Given the description of an element on the screen output the (x, y) to click on. 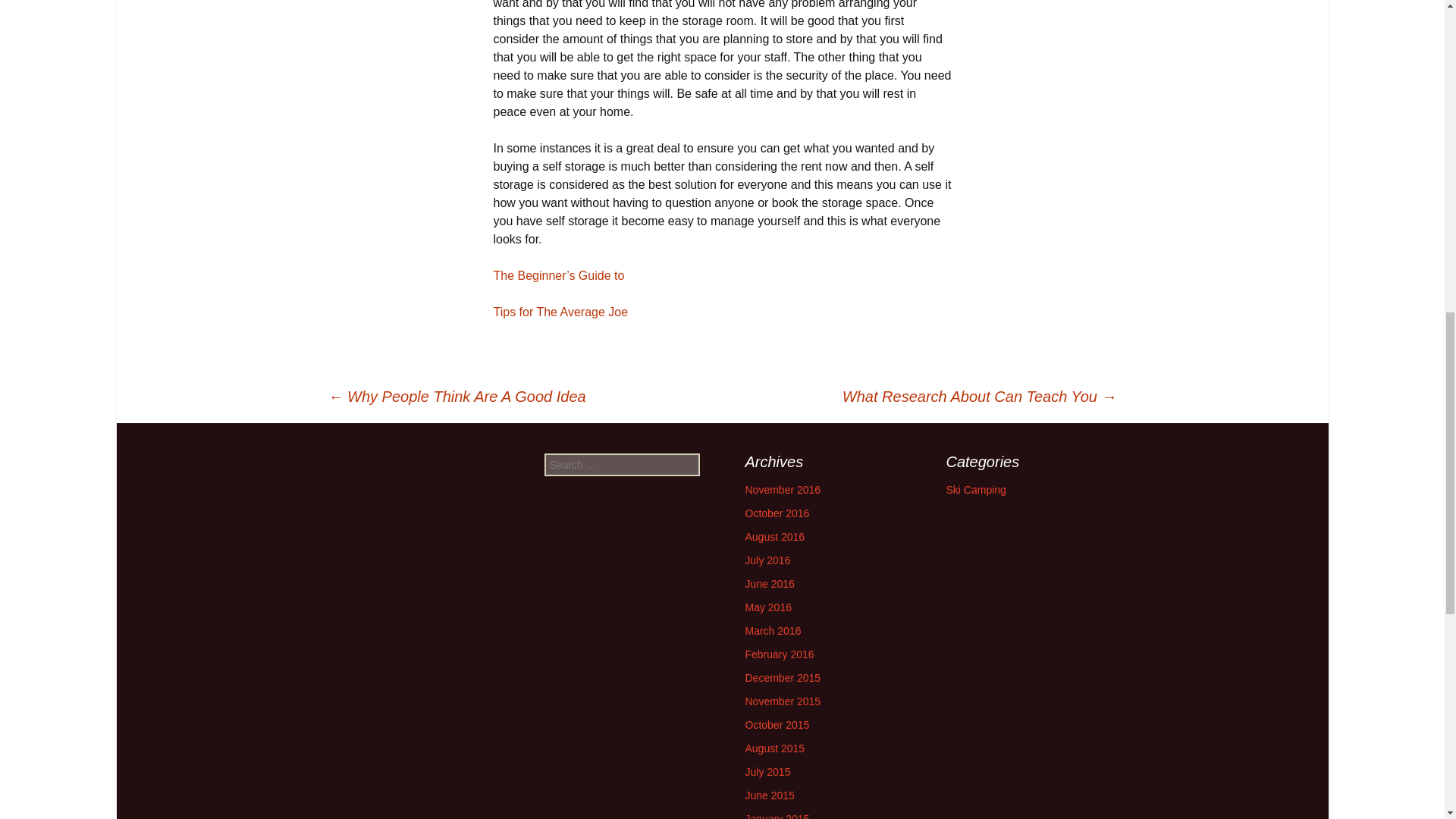
November 2016 (782, 490)
July 2016 (767, 560)
October 2016 (776, 512)
June 2015 (768, 795)
November 2015 (782, 701)
January 2015 (776, 816)
October 2015 (776, 725)
August 2016 (774, 536)
May 2016 (767, 607)
Search for: (622, 464)
Tips for The Average Joe (560, 311)
July 2015 (767, 771)
February 2016 (778, 654)
December 2015 (782, 677)
June 2016 (768, 583)
